Given the description of an element on the screen output the (x, y) to click on. 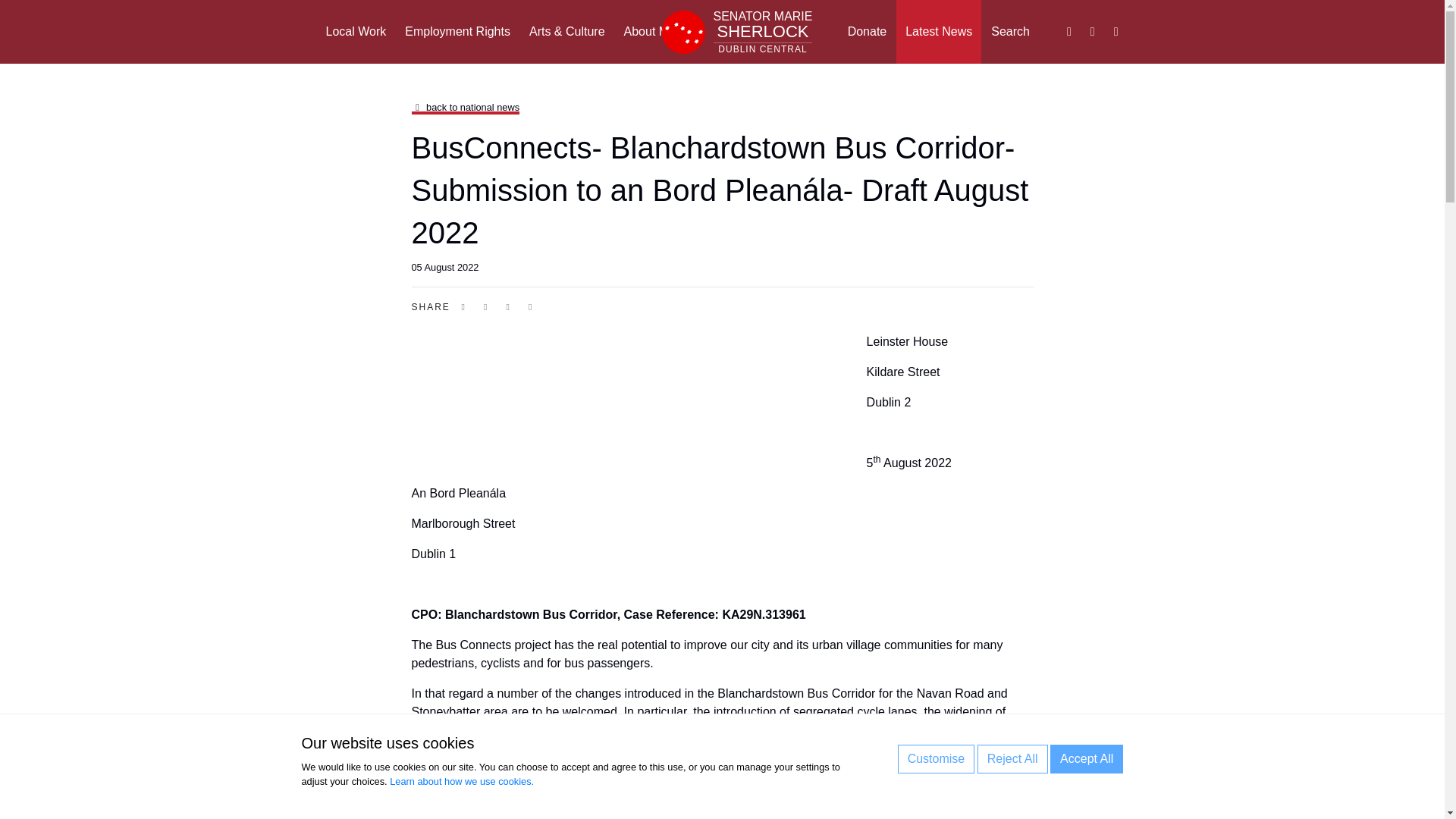
About Marie (656, 31)
Learn about how we use cookies. (462, 781)
Donate (867, 31)
Latest News (938, 31)
Search (736, 32)
Accept All (1010, 31)
Reject All (1085, 758)
Employment Rights (1012, 758)
Customise (457, 31)
